Given the description of an element on the screen output the (x, y) to click on. 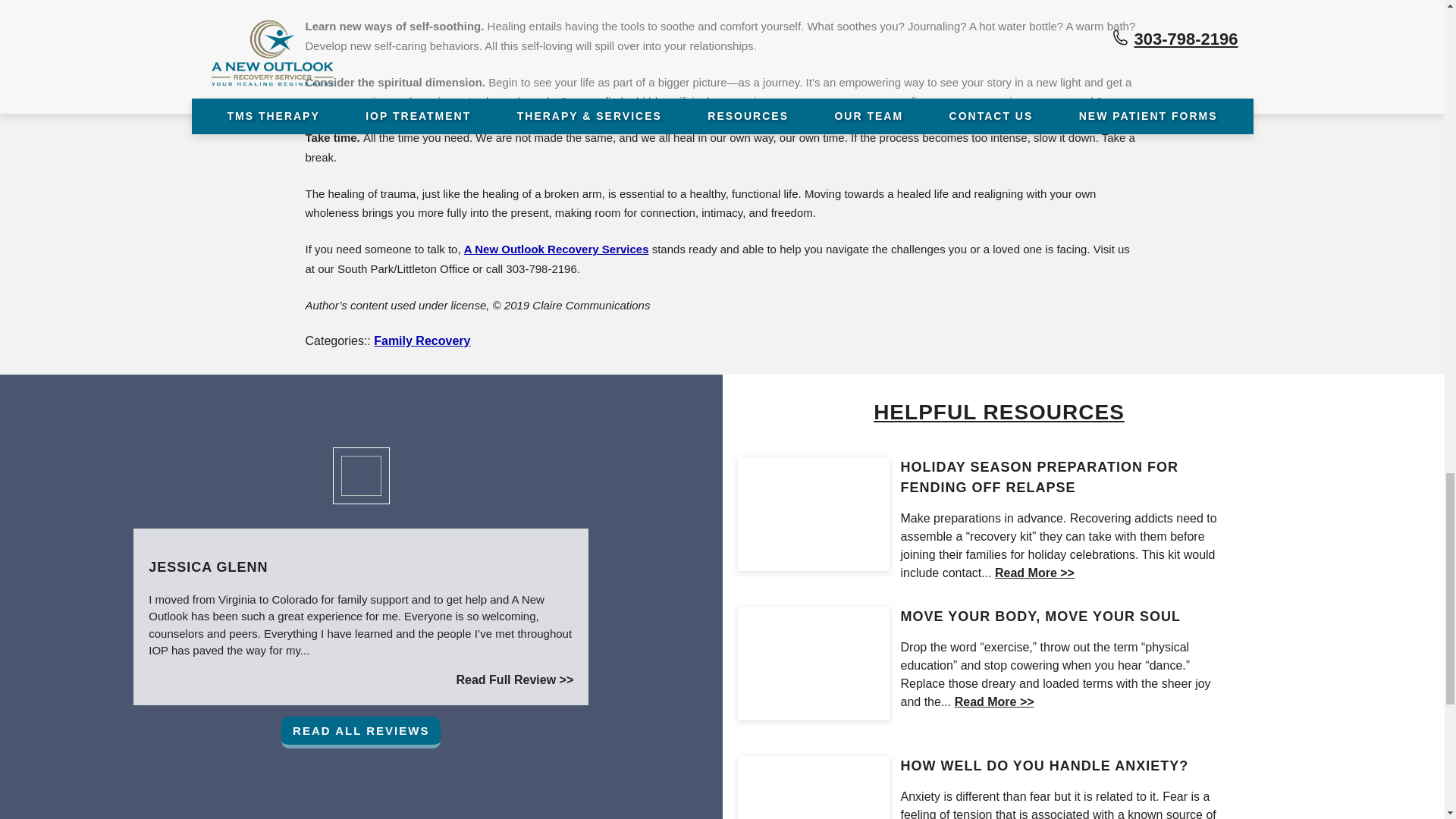
A New Outlook Recovery Services (556, 248)
READ ALL REVIEWS (361, 732)
READ ALL REVIEWS (361, 732)
HELPFUL RESOURCES (998, 411)
Family Recovery (422, 340)
